Given the description of an element on the screen output the (x, y) to click on. 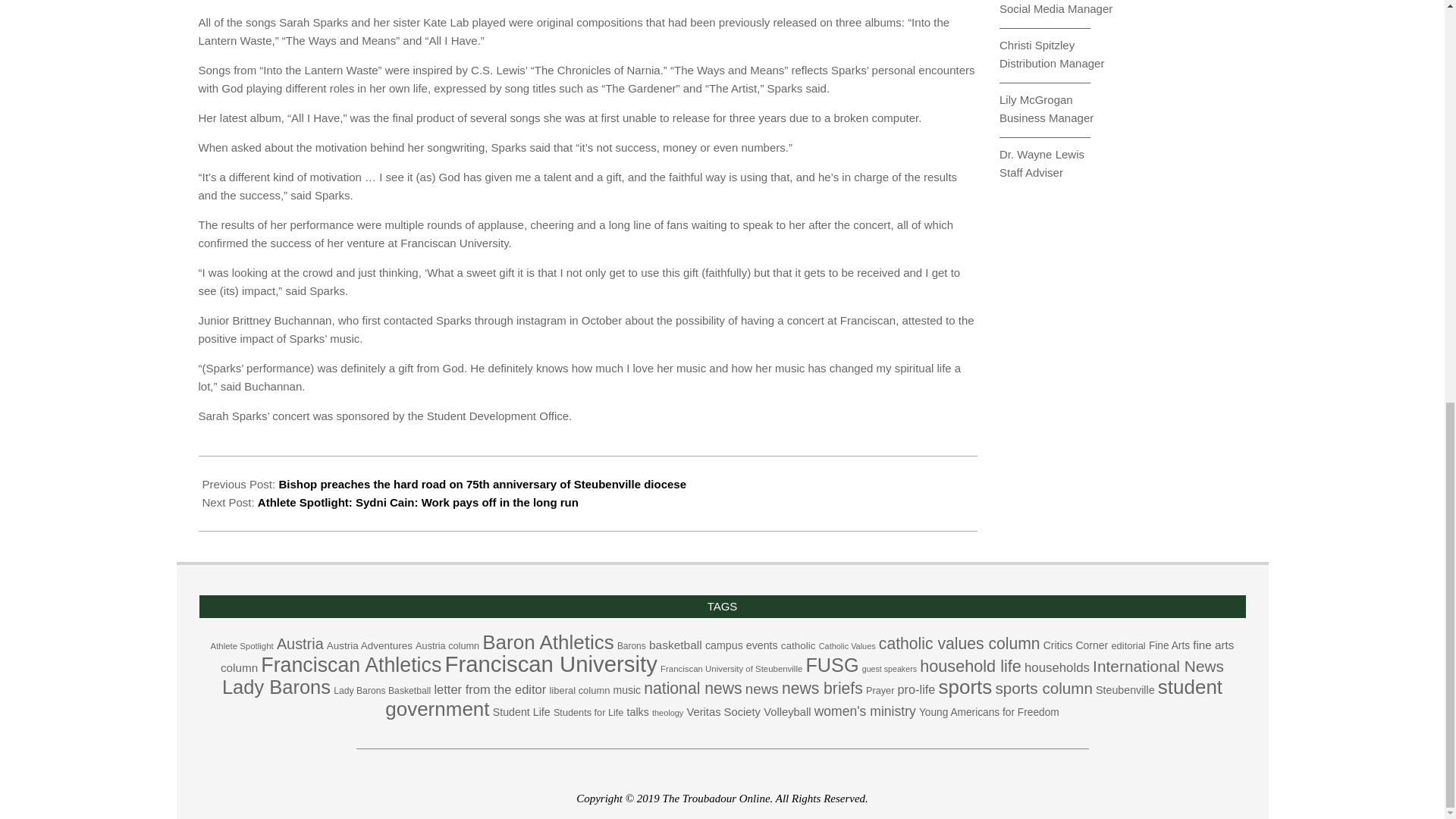
catholic values column (960, 642)
Austria Adventures (369, 645)
editorial (1127, 645)
Athlete Spotlight (242, 645)
Franciscan University (550, 663)
guest speakers (889, 668)
Baron Athletics (546, 641)
household life (971, 665)
Catholic Values (847, 645)
Critics Corner (1075, 645)
Fine Arts (1168, 645)
Franciscan University of Steubenville (731, 668)
catholic (797, 645)
fine arts column (727, 656)
Austria column (446, 645)
